Given the description of an element on the screen output the (x, y) to click on. 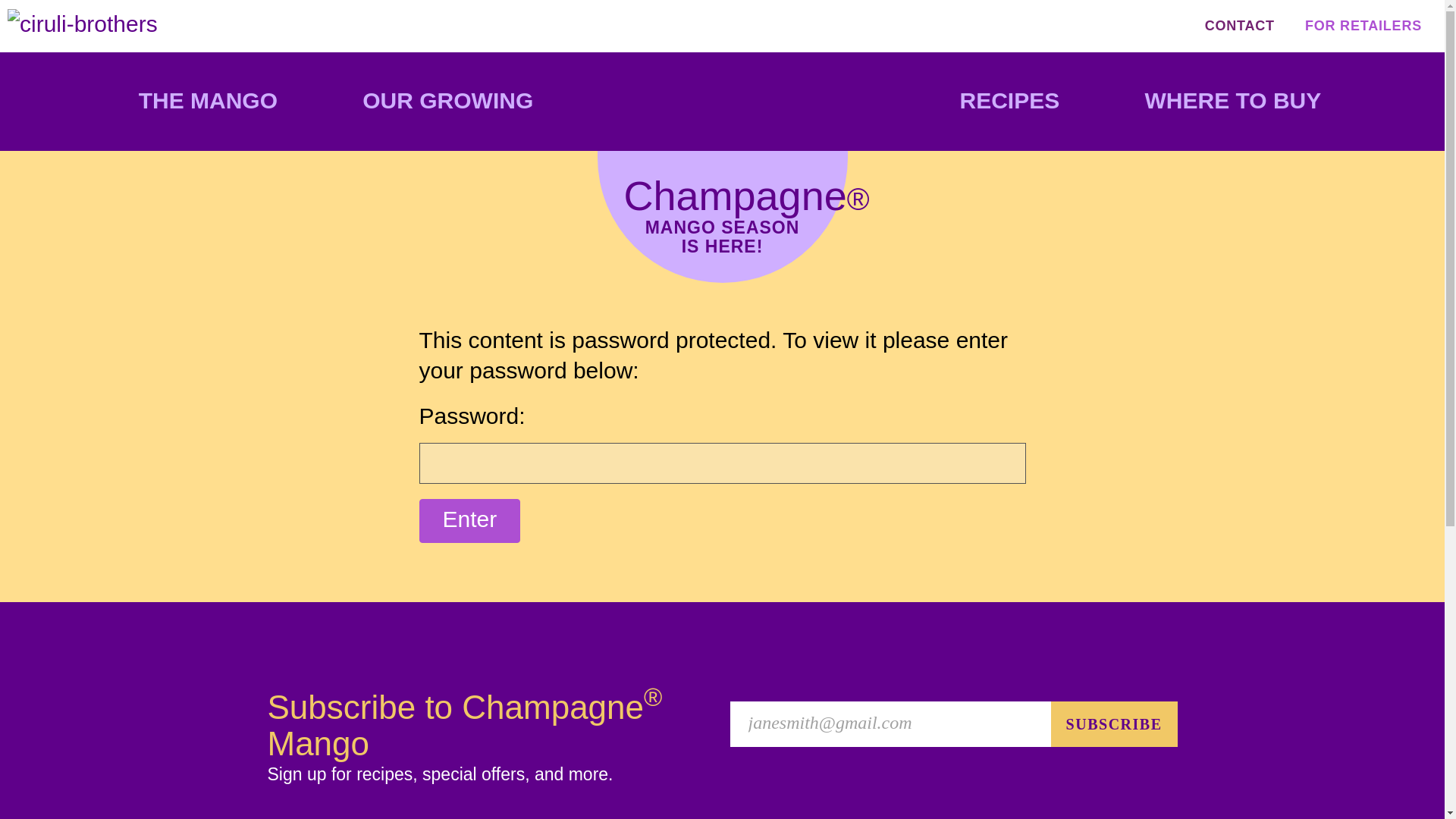
ciruli-brothers (82, 24)
THE MANGO (207, 101)
FOR RETAILERS (1363, 25)
OUR GROWING (447, 101)
Enter (469, 520)
CONTACT (1239, 25)
